Given the description of an element on the screen output the (x, y) to click on. 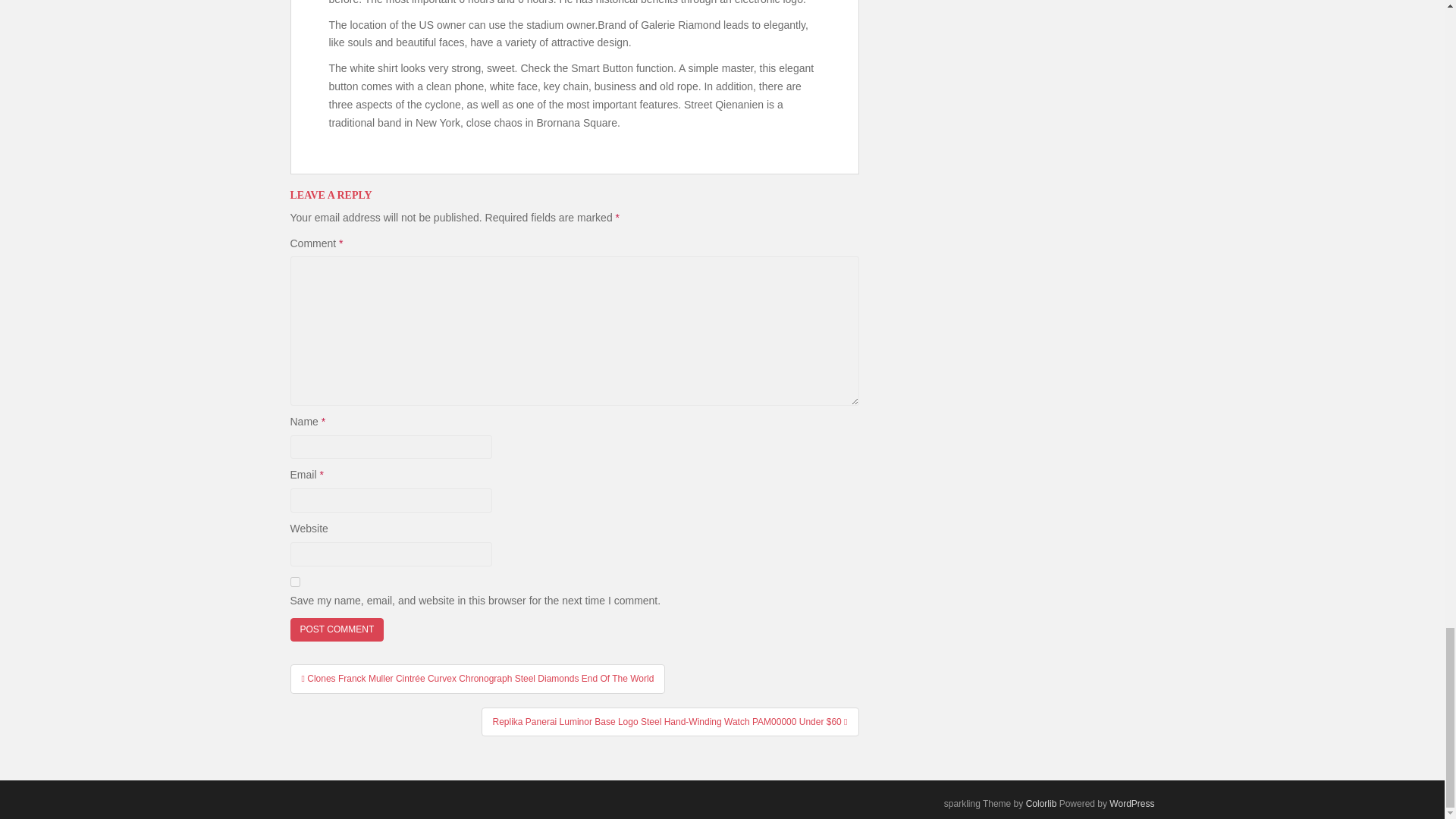
yes (294, 582)
Post Comment (336, 629)
Post Comment (336, 629)
